Given the description of an element on the screen output the (x, y) to click on. 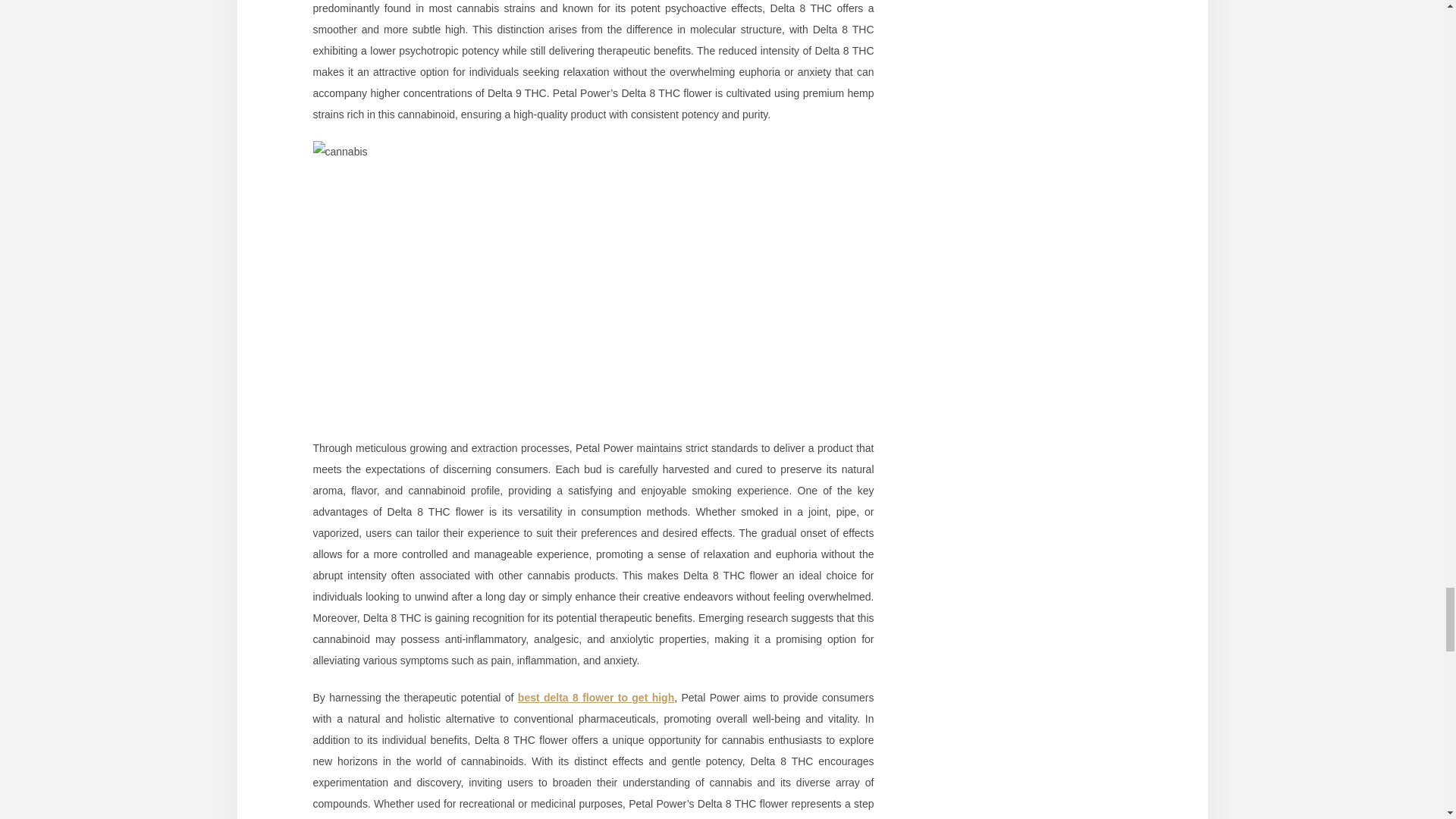
best delta 8 flower to get high (596, 697)
